Given the description of an element on the screen output the (x, y) to click on. 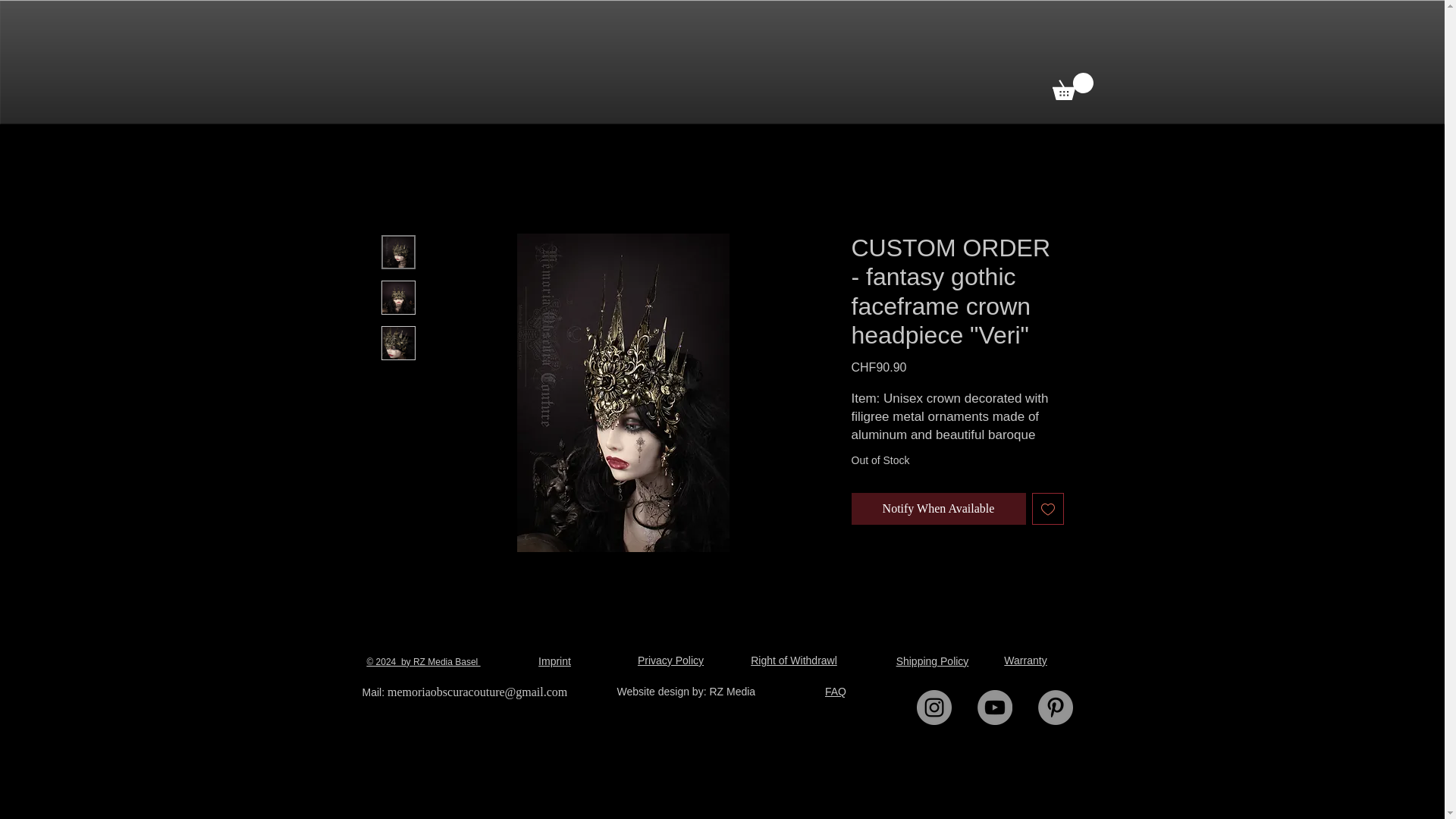
Right of Withdrawl (794, 660)
Imprint (554, 661)
Shipping Policy (932, 661)
Warranty (1025, 660)
FAQ (835, 691)
Notify When Available (937, 508)
Privacy Policy (670, 660)
